Given the description of an element on the screen output the (x, y) to click on. 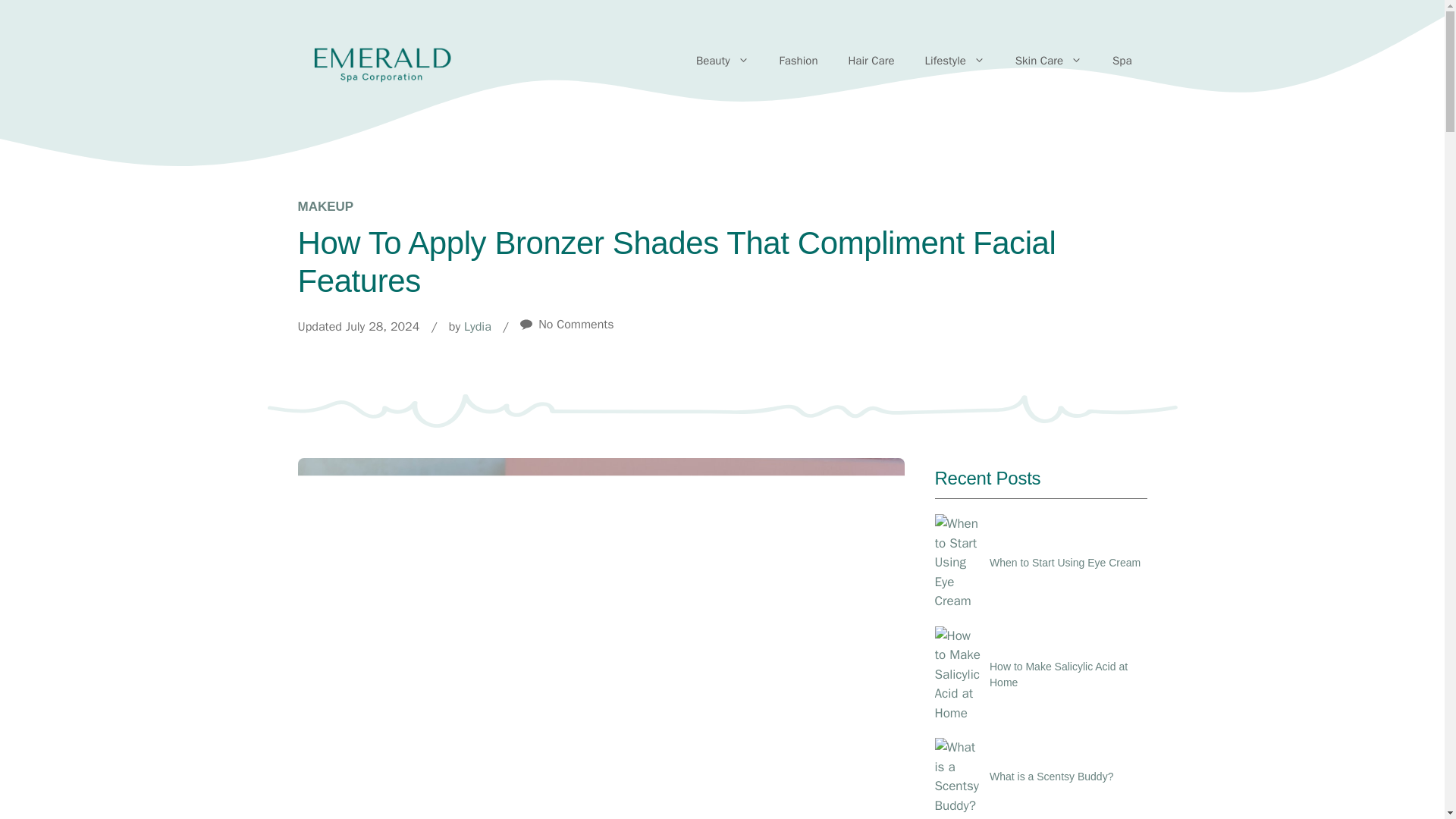
MAKEUP (325, 206)
Skin Care (1048, 60)
Lifestyle (955, 60)
Spa (1122, 60)
Lydia (478, 326)
Hair Care (870, 60)
Fashion (798, 60)
Beauty (722, 60)
